Given the description of an element on the screen output the (x, y) to click on. 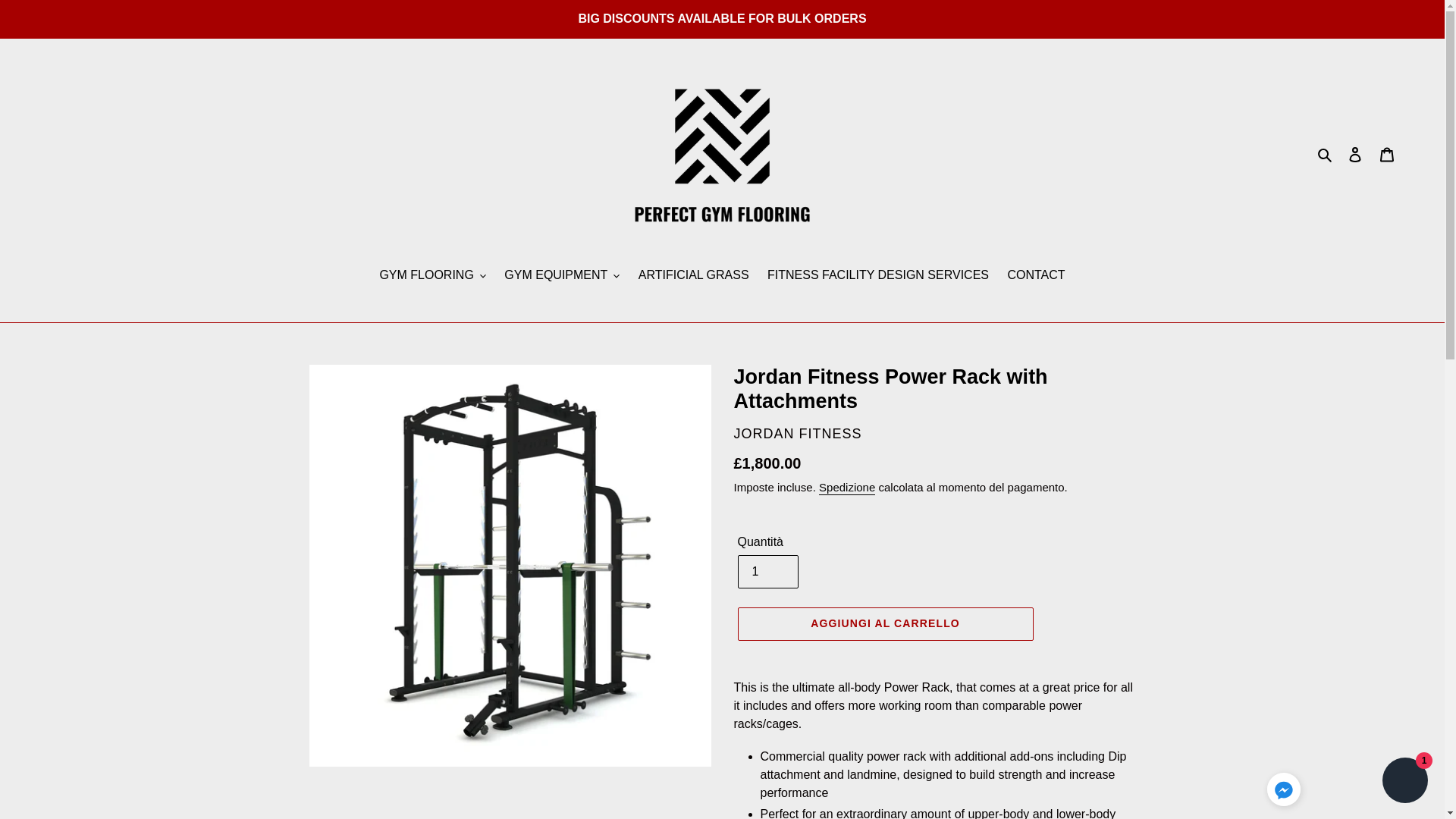
Chat negozio online di Shopify (1404, 781)
BIG DISCOUNTS AVAILABLE FOR BULK ORDERS (721, 18)
Carrello (1387, 154)
Accedi (1355, 154)
1 (766, 571)
GYM FLOORING (432, 276)
Cerca (1326, 153)
